Given the description of an element on the screen output the (x, y) to click on. 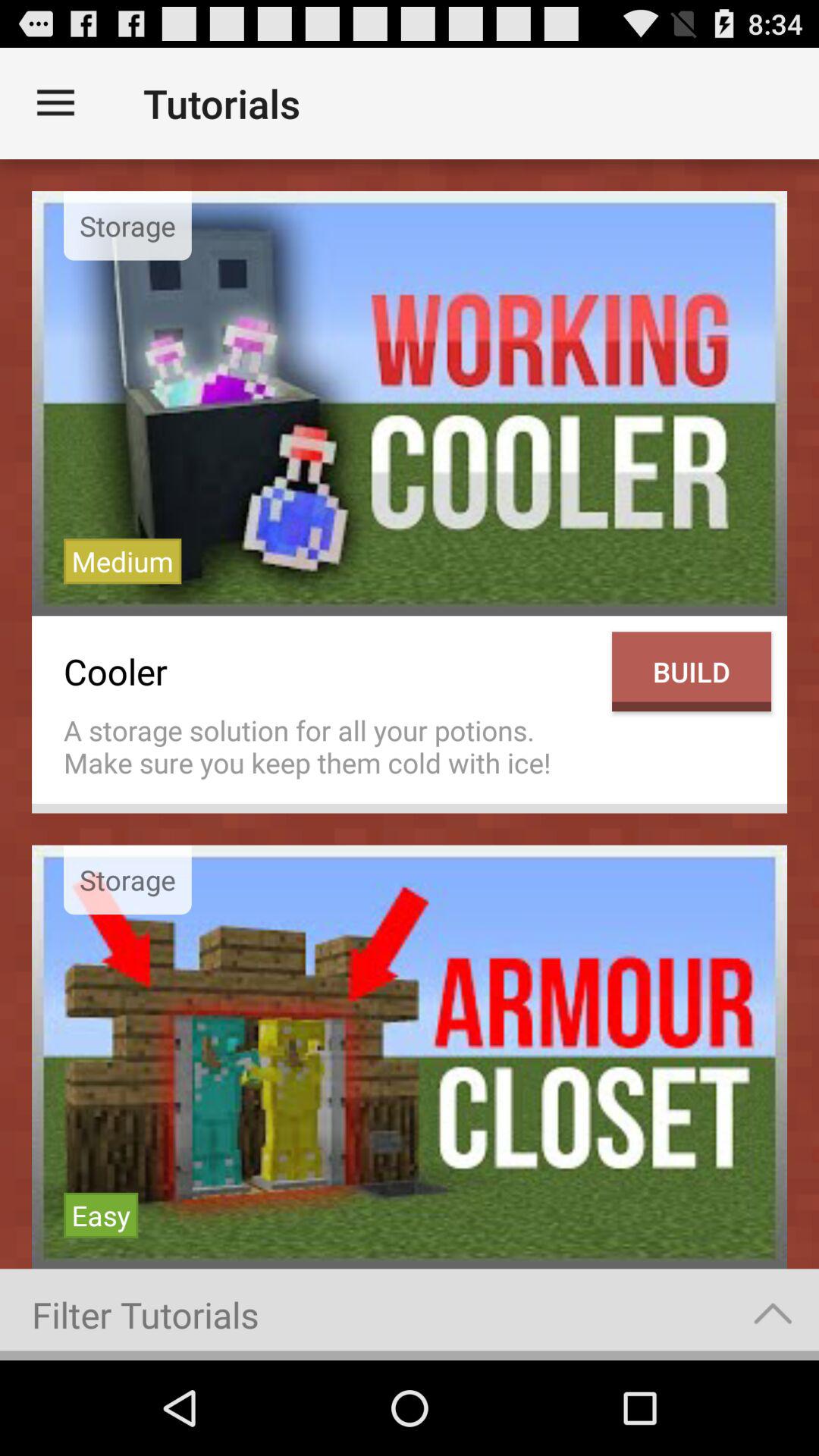
turn off the icon next to the build icon (329, 746)
